Given the description of an element on the screen output the (x, y) to click on. 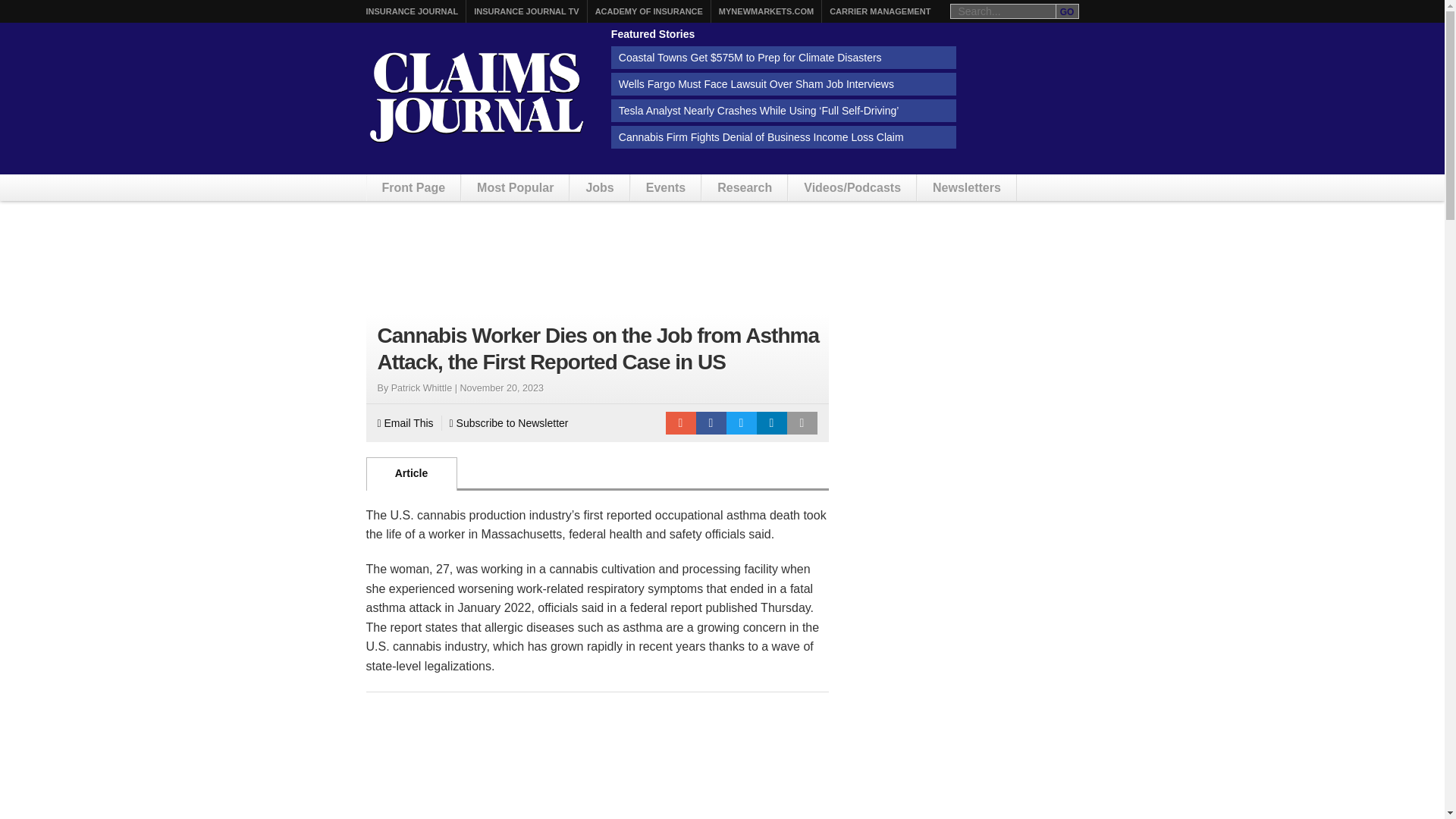
LinkedIn (772, 422)
Email This (405, 422)
Print Article (801, 422)
Subscribe to Newsletter (509, 422)
Tweet (741, 422)
Email to a friend (680, 422)
INSURANCE JOURNAL (411, 11)
Front Page (413, 187)
Cannabis Firm Fights Denial of Business Income Loss Claim (783, 137)
Share on Twitter. (741, 422)
Article (411, 473)
Wells Fargo Must Face Lawsuit Over Sham Job Interviews (783, 83)
CARRIER MANAGEMENT (879, 11)
ACADEMY OF INSURANCE (649, 11)
Most Popular (515, 187)
